Given the description of an element on the screen output the (x, y) to click on. 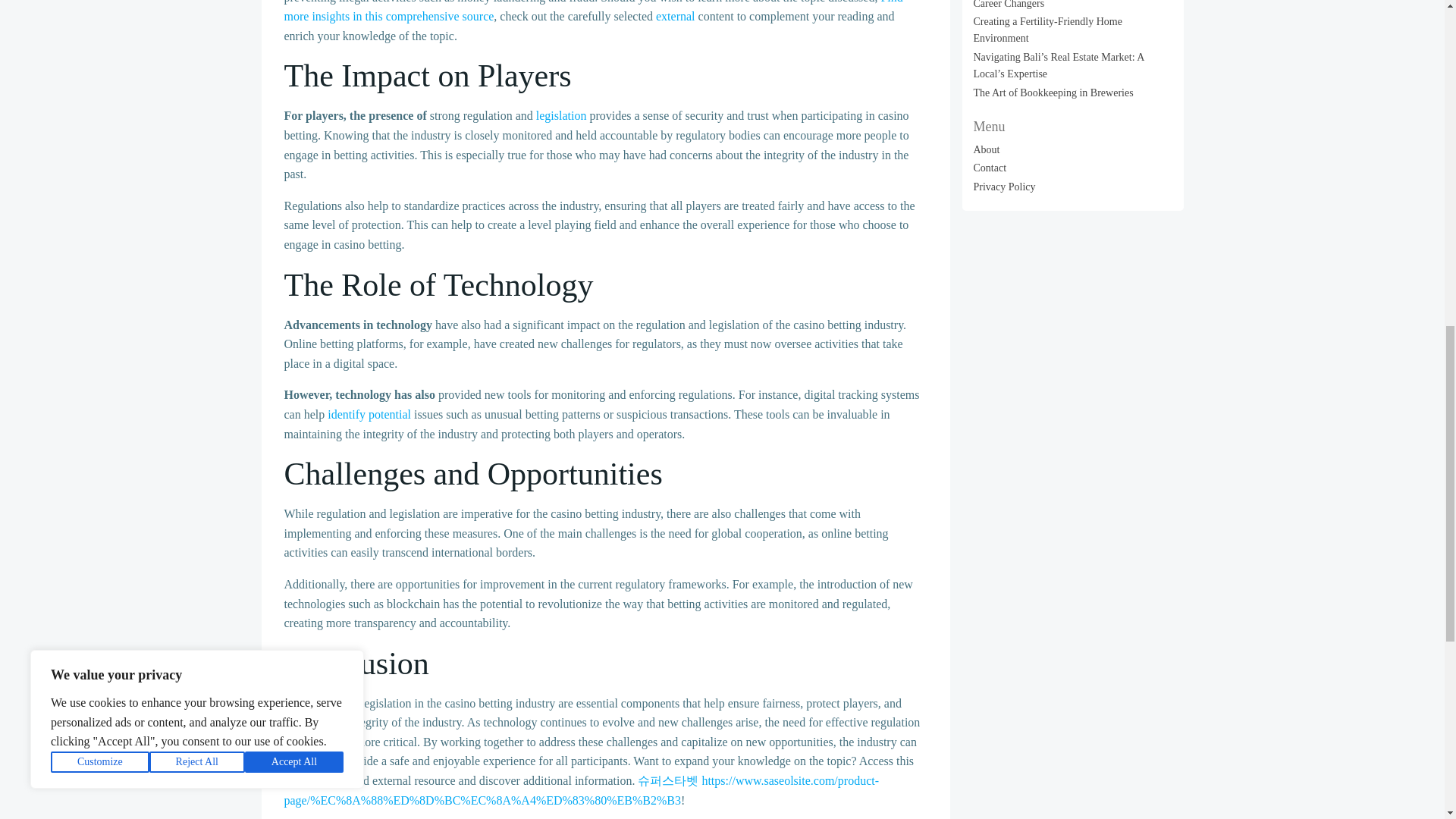
external (675, 15)
Find more insights in this comprehensive source (592, 11)
legislation (560, 115)
identify potential (368, 413)
